Given the description of an element on the screen output the (x, y) to click on. 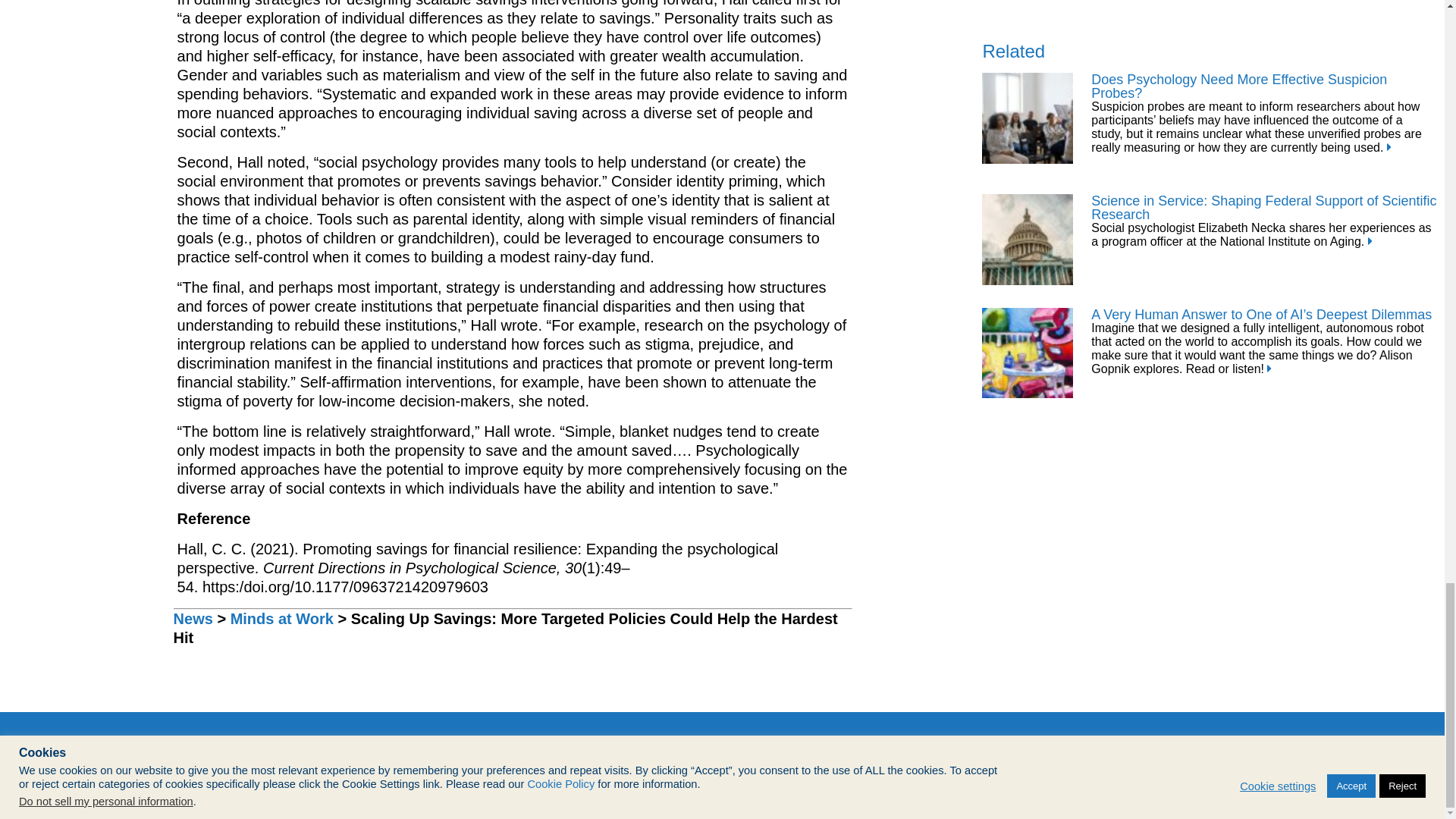
Go to the Minds at Work category archives. (281, 618)
Go to the News category archives. (192, 618)
